Given the description of an element on the screen output the (x, y) to click on. 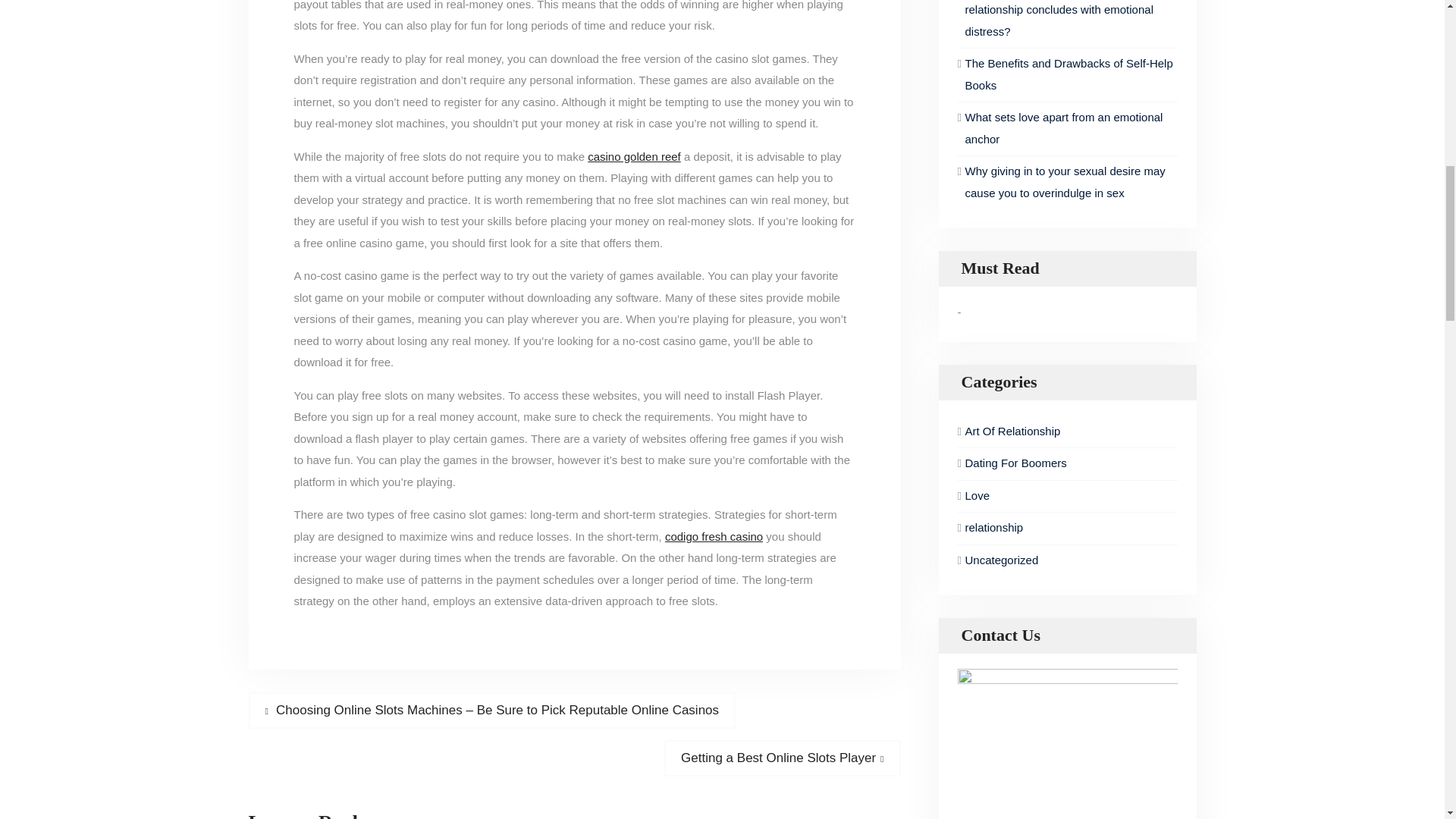
casino golden reef (634, 155)
codigo fresh casino (713, 535)
The Benefits and Drawbacks of Self-Help Books (1067, 73)
What sets love apart from an emotional anchor (781, 758)
Art Of Relationship (1062, 127)
Dating For Boomers (1051, 431)
